Given the description of an element on the screen output the (x, y) to click on. 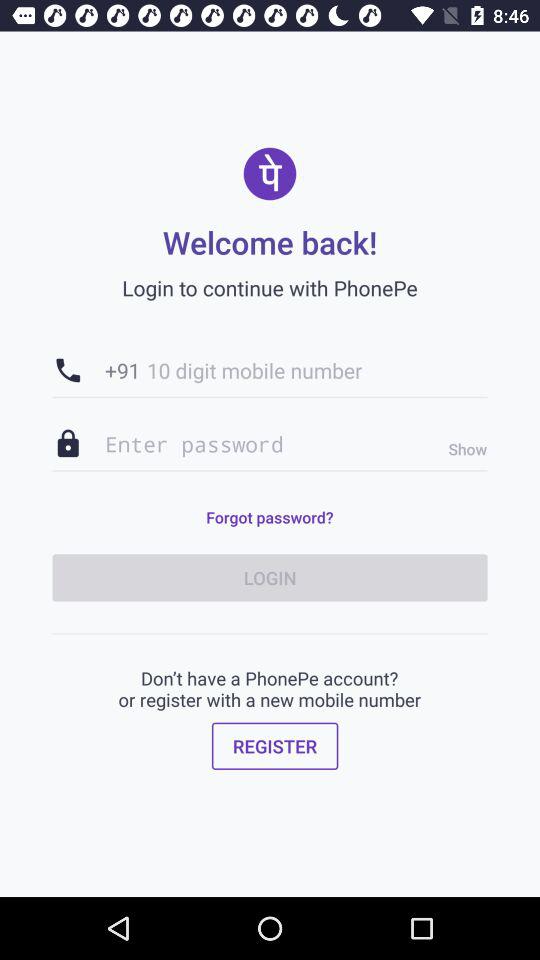
tap the item below the +91 (269, 443)
